Given the description of an element on the screen output the (x, y) to click on. 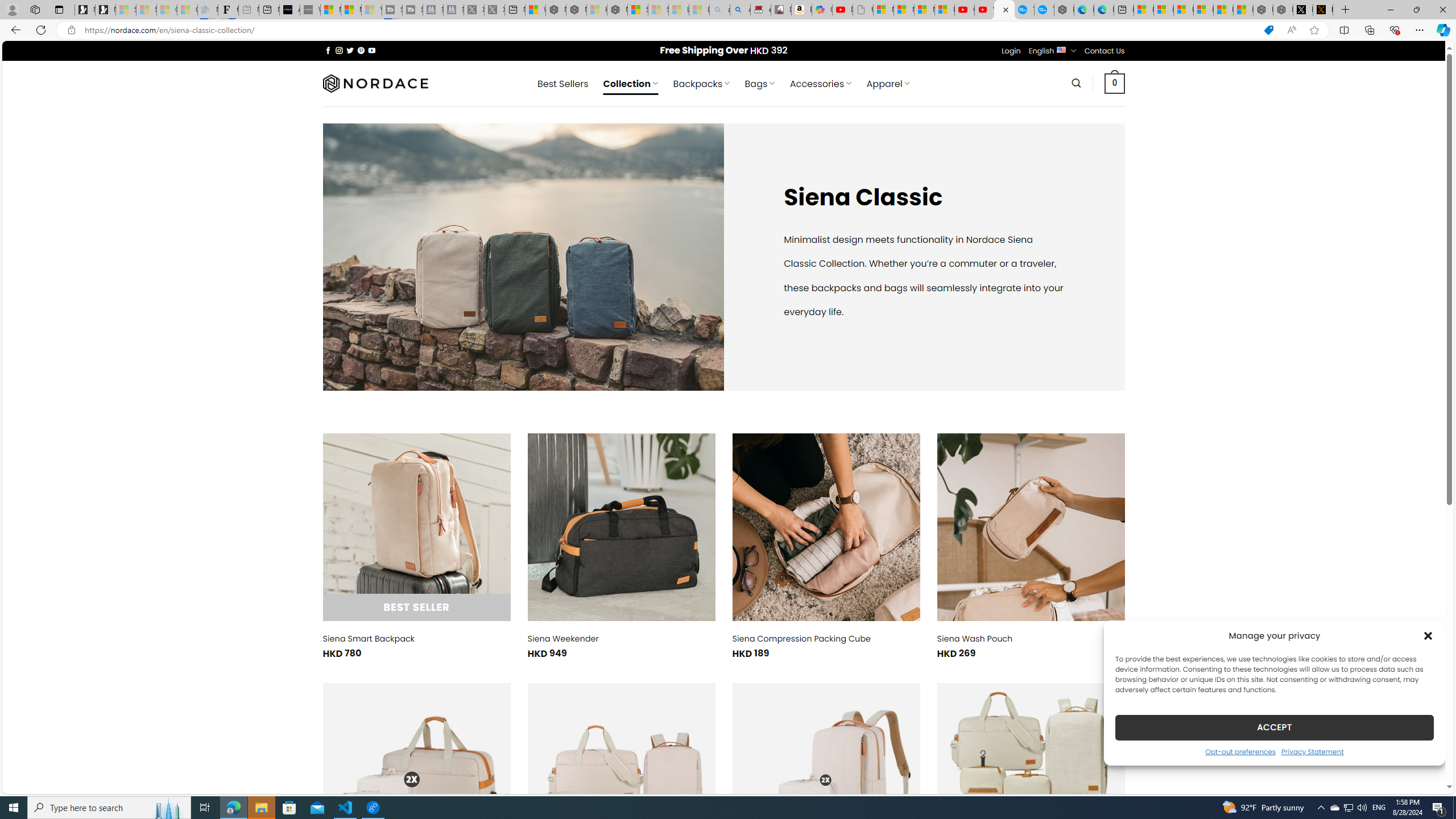
Day 1: Arriving in Yemen (surreal to be here) - YouTube (842, 9)
Newsletter Sign Up (105, 9)
Gloom - YouTube (964, 9)
